Given the description of an element on the screen output the (x, y) to click on. 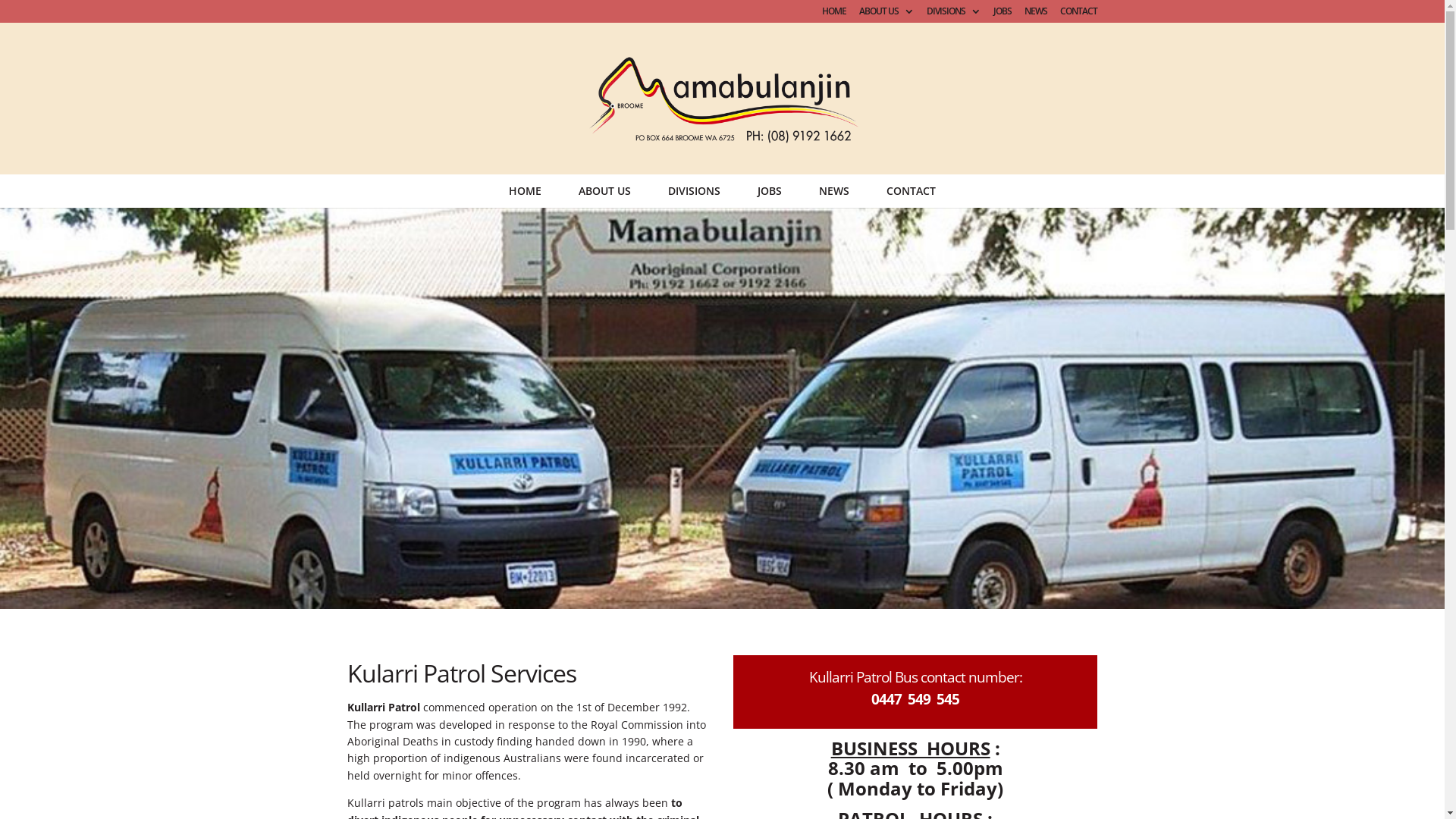
ABOUT US Element type: text (604, 190)
DIVISIONS Element type: text (693, 190)
NEWS Element type: text (833, 190)
HOME Element type: text (834, 14)
DIVISIONS Element type: text (953, 14)
CONTACT Element type: text (1078, 14)
JOBS Element type: text (1002, 14)
CONTACT Element type: text (911, 190)
HOME Element type: text (524, 190)
ABOUT US Element type: text (886, 14)
JOBS Element type: text (769, 190)
NEWS Element type: text (1035, 14)
